Given the description of an element on the screen output the (x, y) to click on. 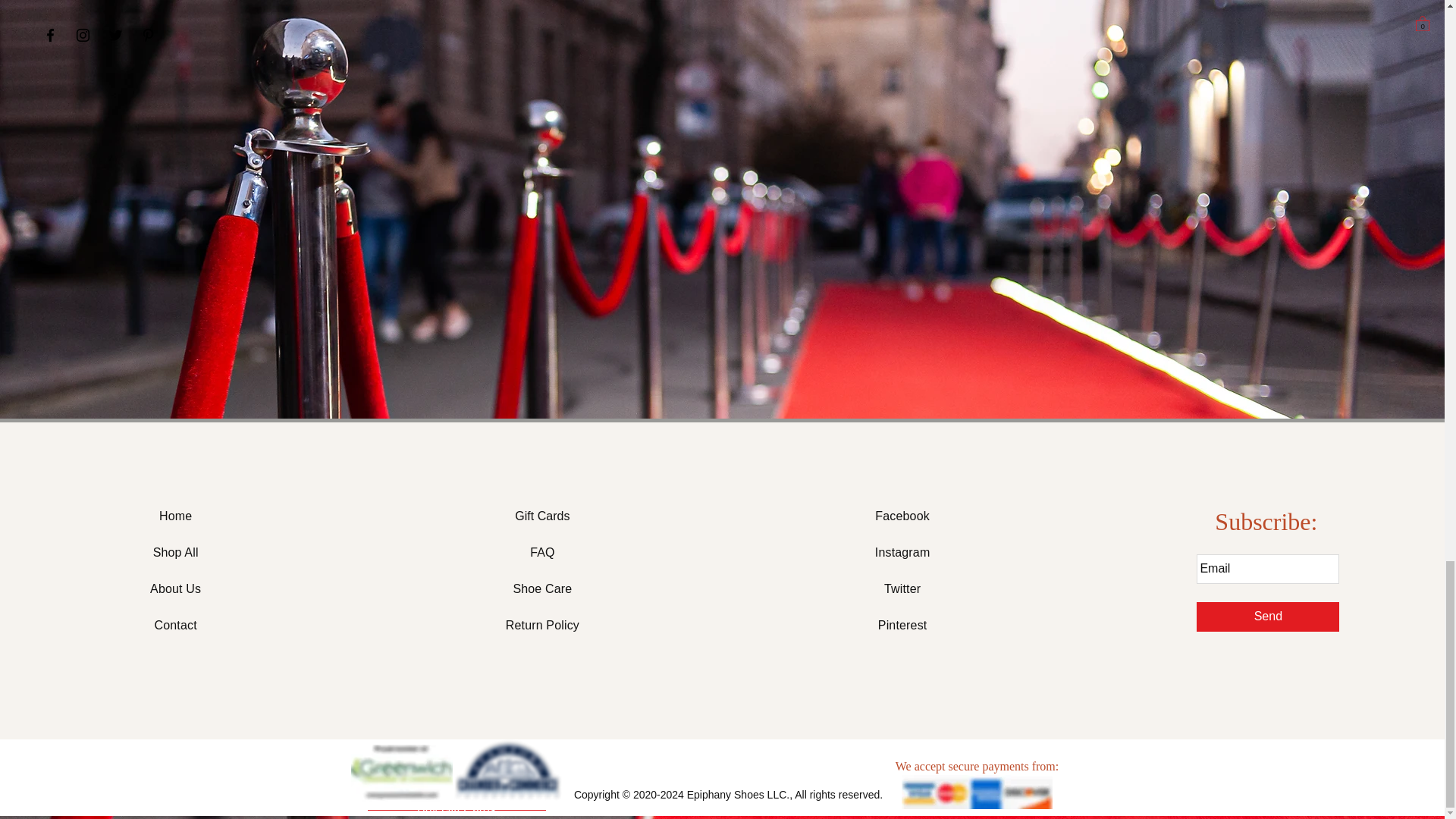
Return Policy (542, 625)
About Us (174, 588)
Shoe Care (542, 588)
Send (1267, 616)
Twitter (901, 588)
Instagram (902, 552)
Home (175, 515)
Gift Cards (542, 515)
Facebook (902, 515)
Shop All (175, 552)
FAQ (541, 552)
Contact (175, 625)
Pinterest (902, 625)
